Given the description of an element on the screen output the (x, y) to click on. 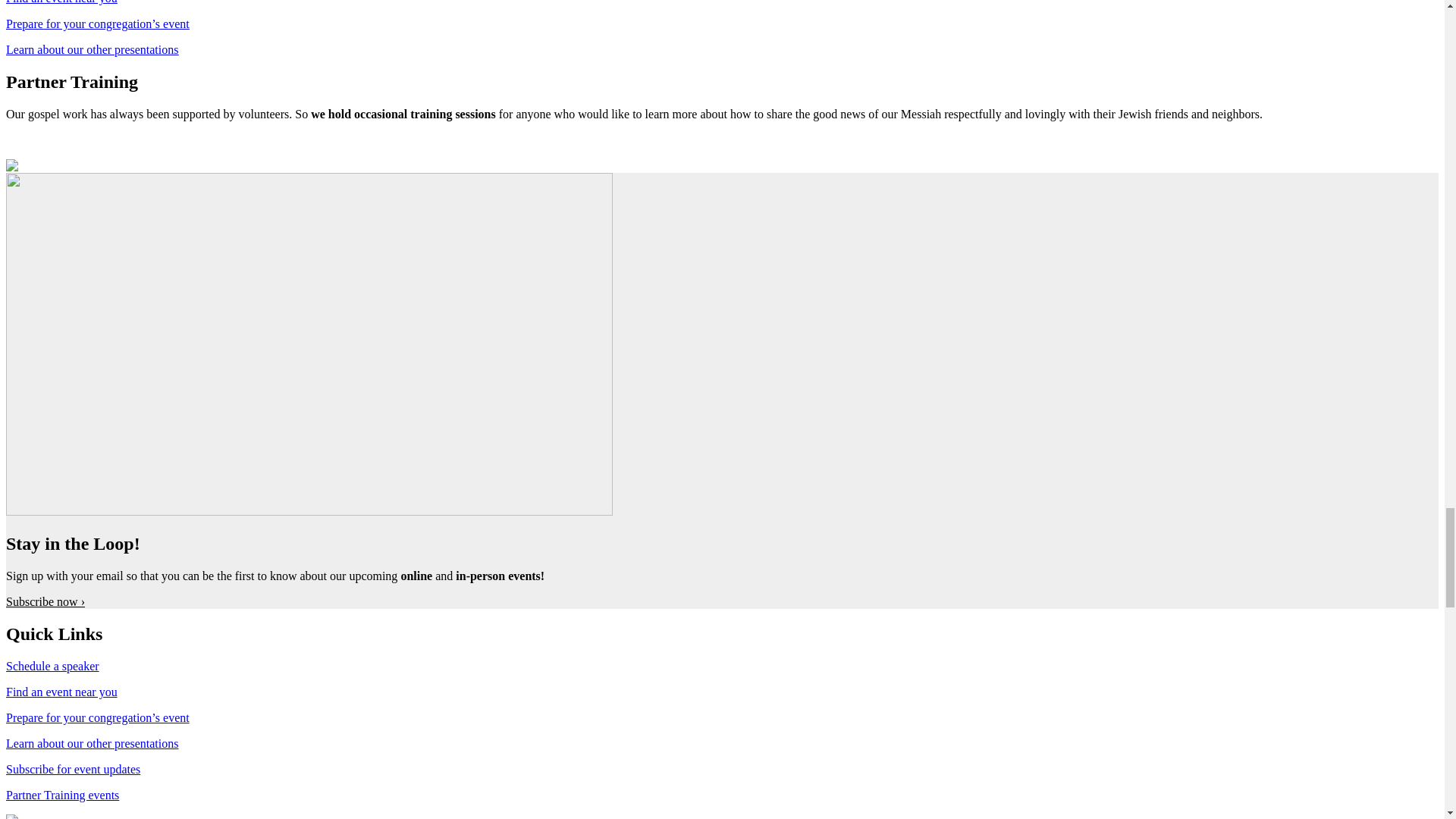
Learn about our other presentations (91, 49)
Subscribe for event updates (72, 768)
Schedule a speaker (52, 666)
Partner Training events (62, 794)
Find an event near you (61, 691)
Find an event near you (61, 2)
Learn about our other presentations (91, 743)
